Given the description of an element on the screen output the (x, y) to click on. 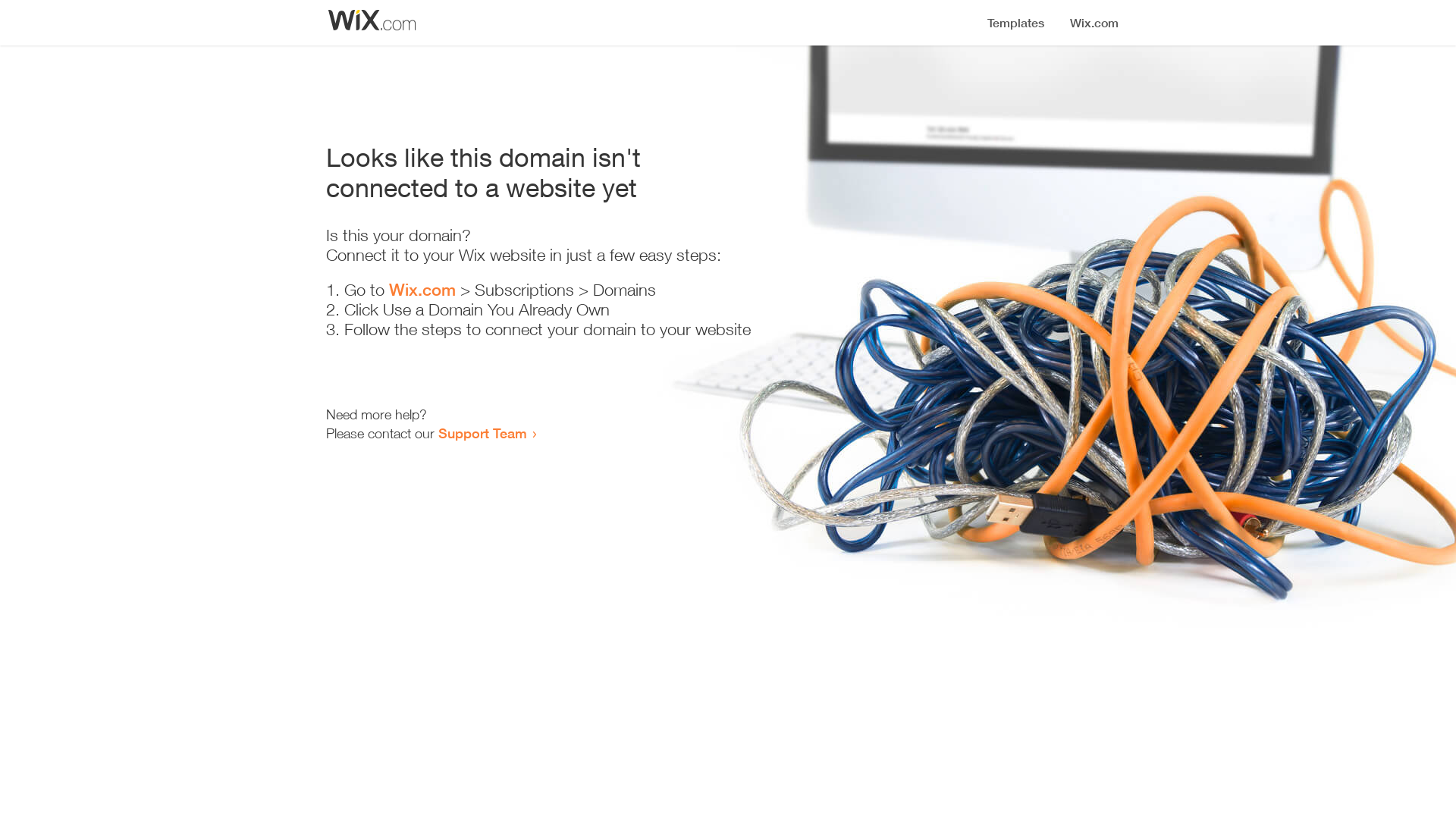
Support Team Element type: text (482, 432)
Wix.com Element type: text (422, 289)
